Given the description of an element on the screen output the (x, y) to click on. 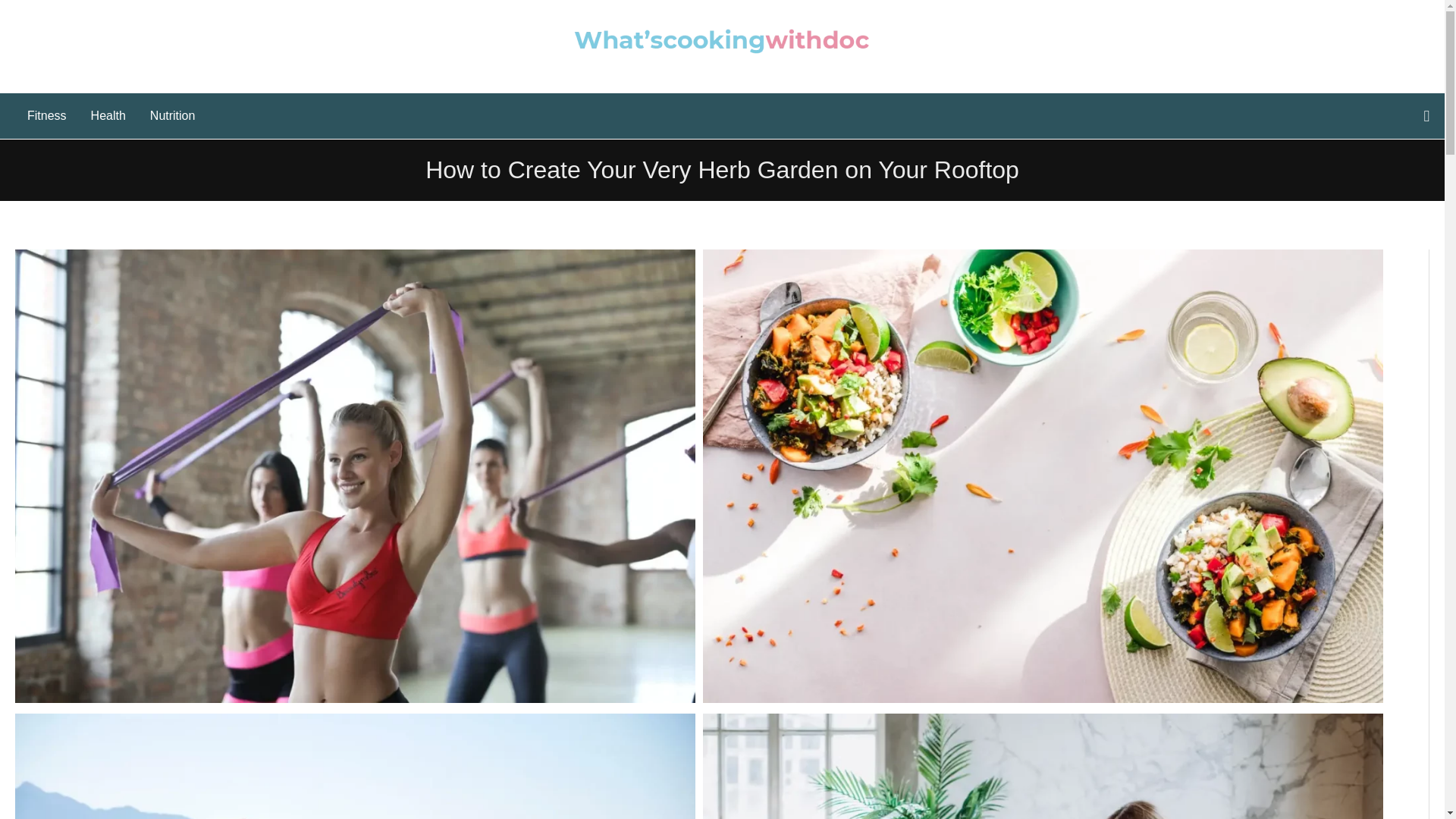
Fitness (46, 115)
Health (108, 115)
Nutrition (173, 115)
